Given the description of an element on the screen output the (x, y) to click on. 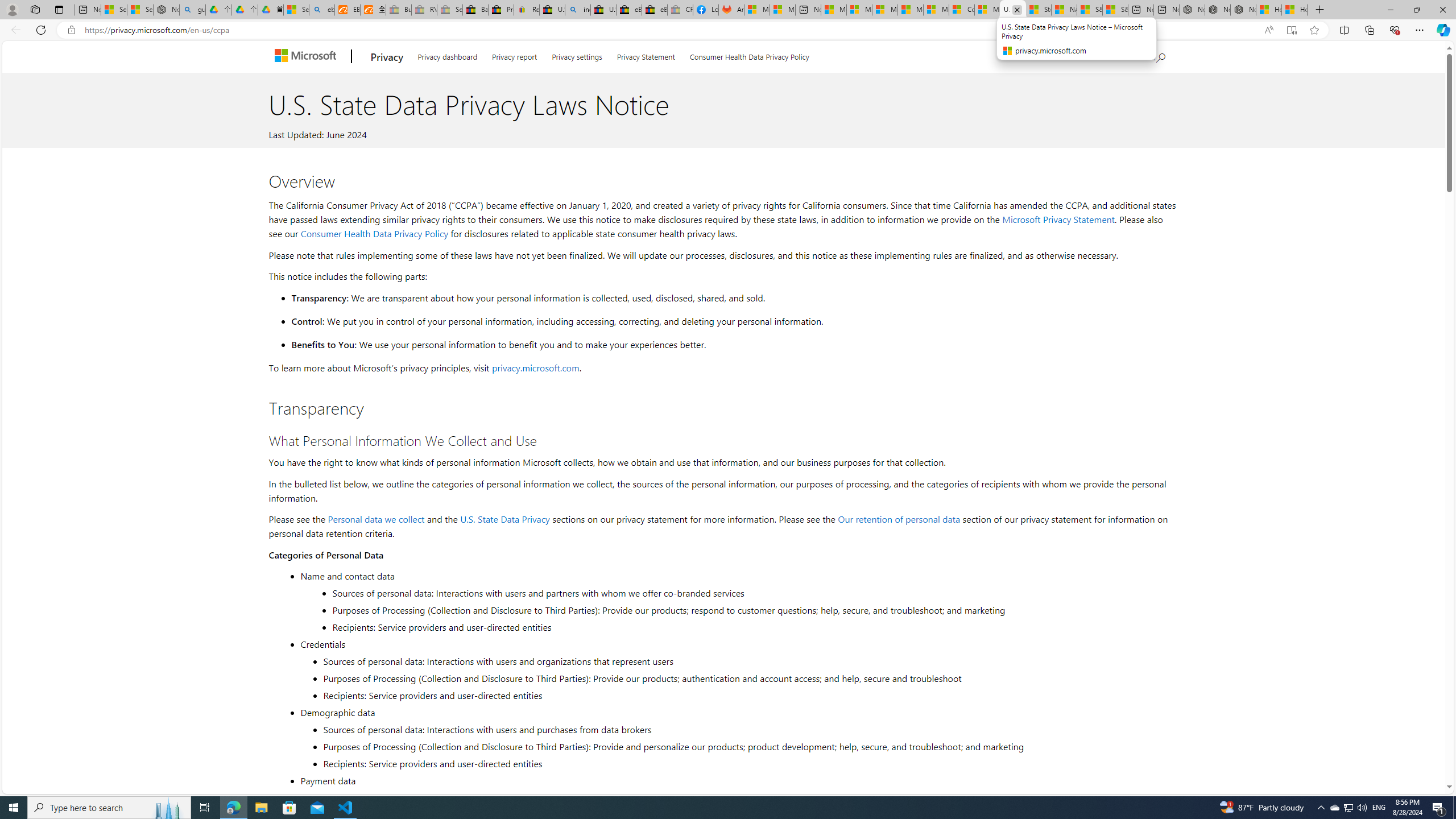
U.S. State Data Privacy (505, 518)
privacy.microsoft.com (535, 367)
Our retention of personal data (898, 518)
Privacy dashboard (447, 54)
Recipients: Service providers and user-directed entities (748, 763)
Consumer Health Data Privacy Policy (373, 233)
